Given the description of an element on the screen output the (x, y) to click on. 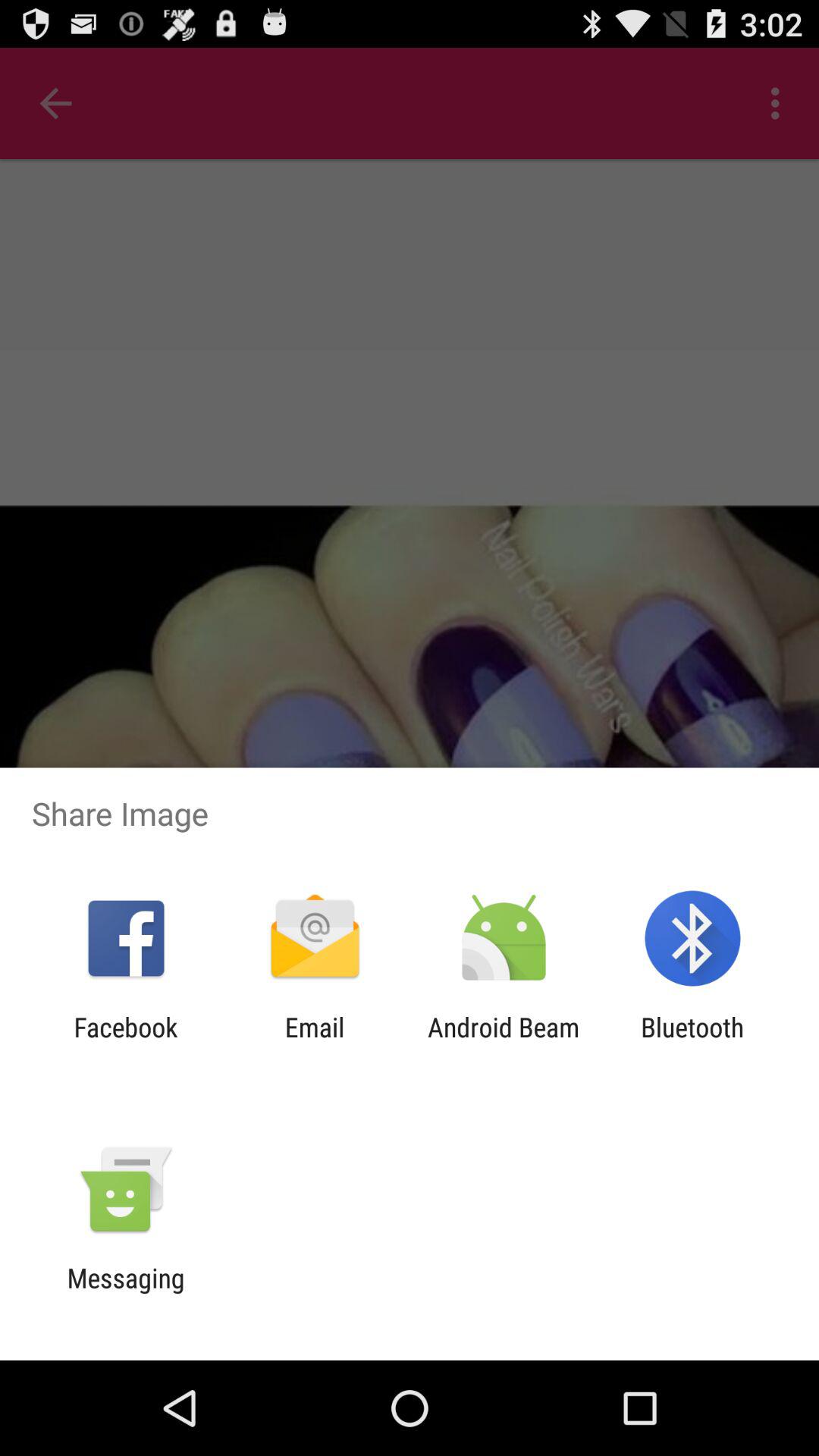
choose bluetooth at the bottom right corner (691, 1042)
